Given the description of an element on the screen output the (x, y) to click on. 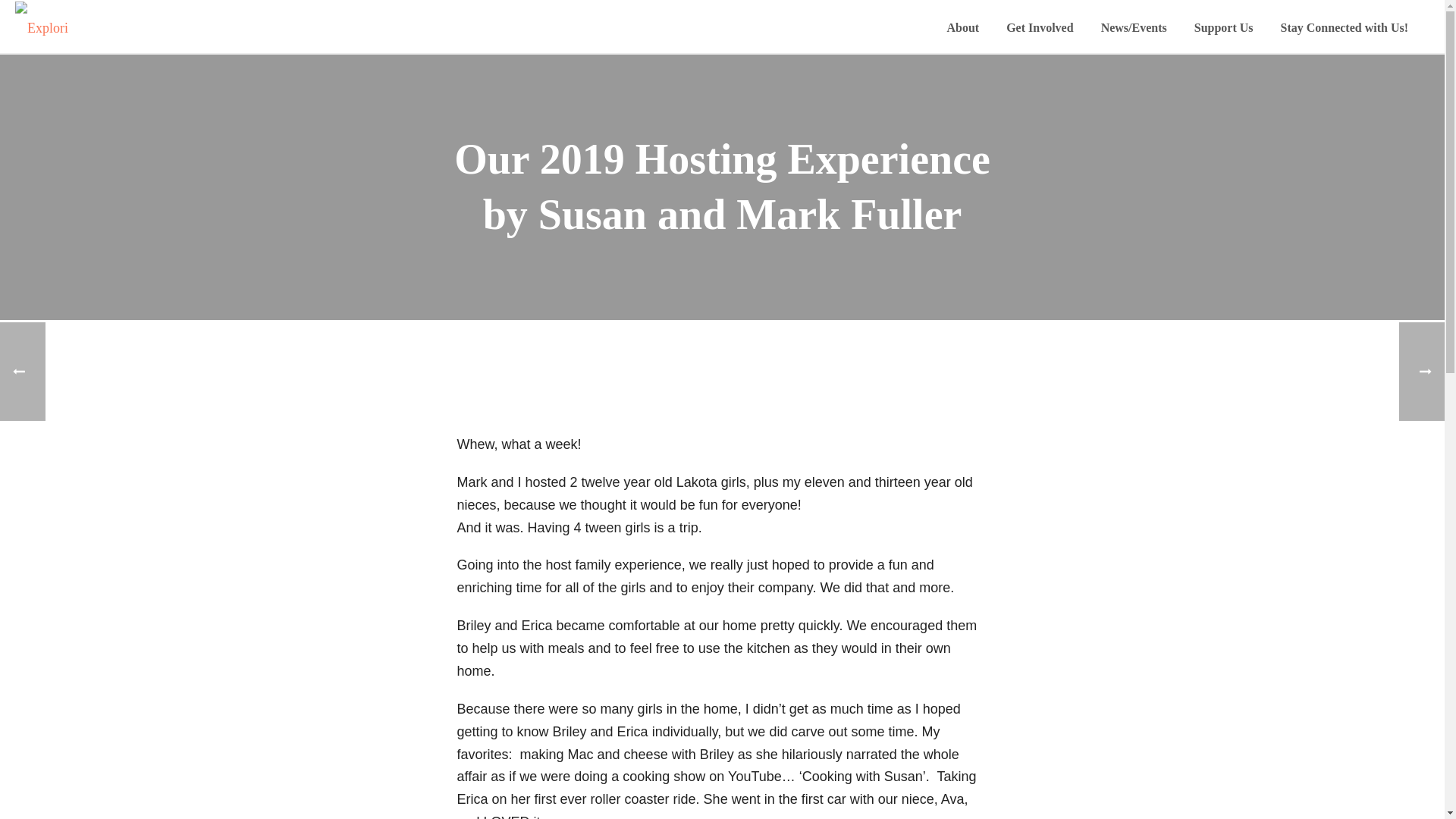
Support Us (1223, 26)
Exploring and Expanding Horizons (44, 26)
Get Involved (1039, 26)
Get Involved (1039, 26)
Stay Connected with Us! (1344, 26)
About (962, 26)
Stay Connected with Us! (1344, 26)
Support Us (1223, 26)
About (962, 26)
